Given the description of an element on the screen output the (x, y) to click on. 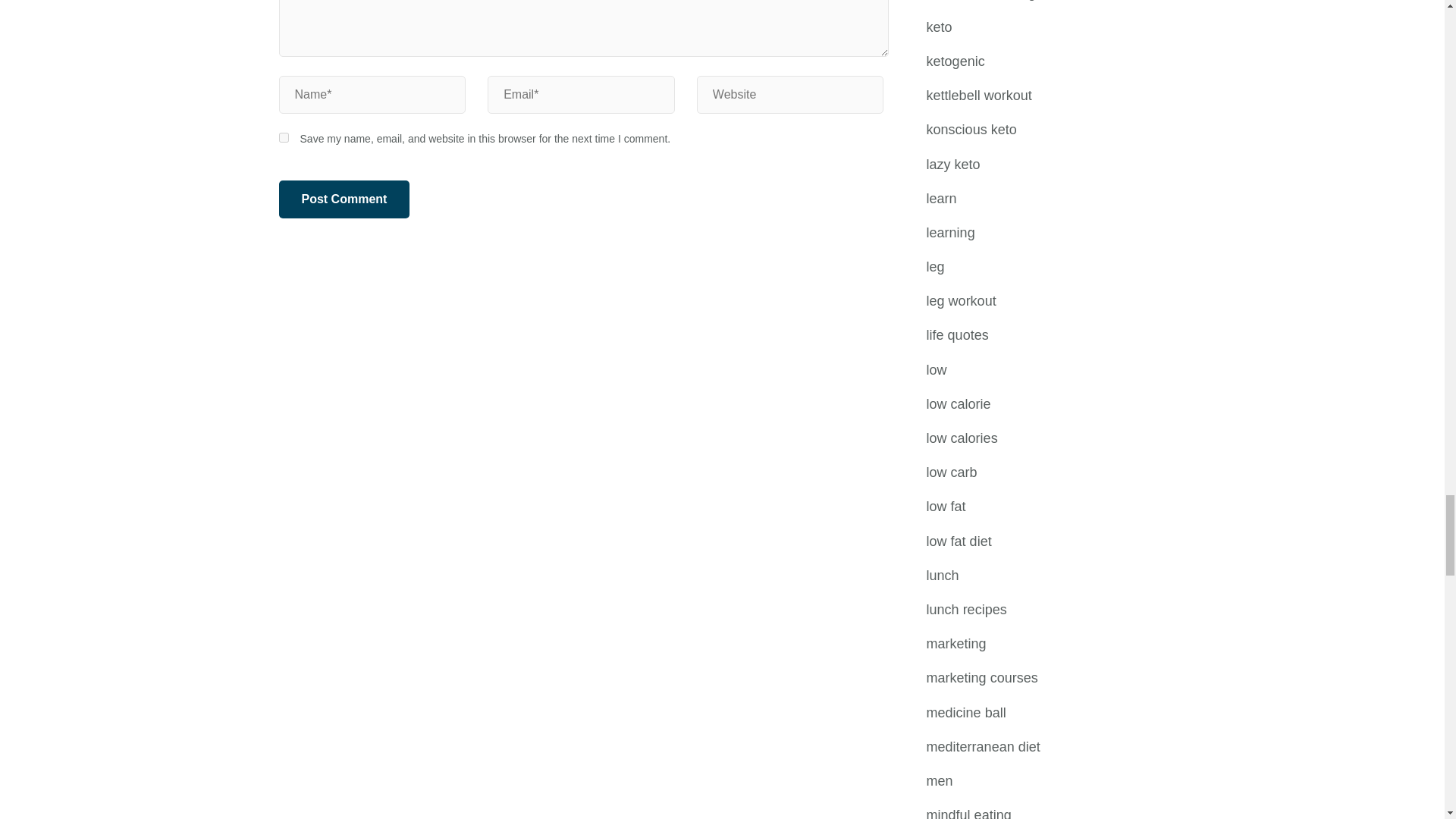
Post Comment (344, 199)
yes (283, 137)
